Given the description of an element on the screen output the (x, y) to click on. 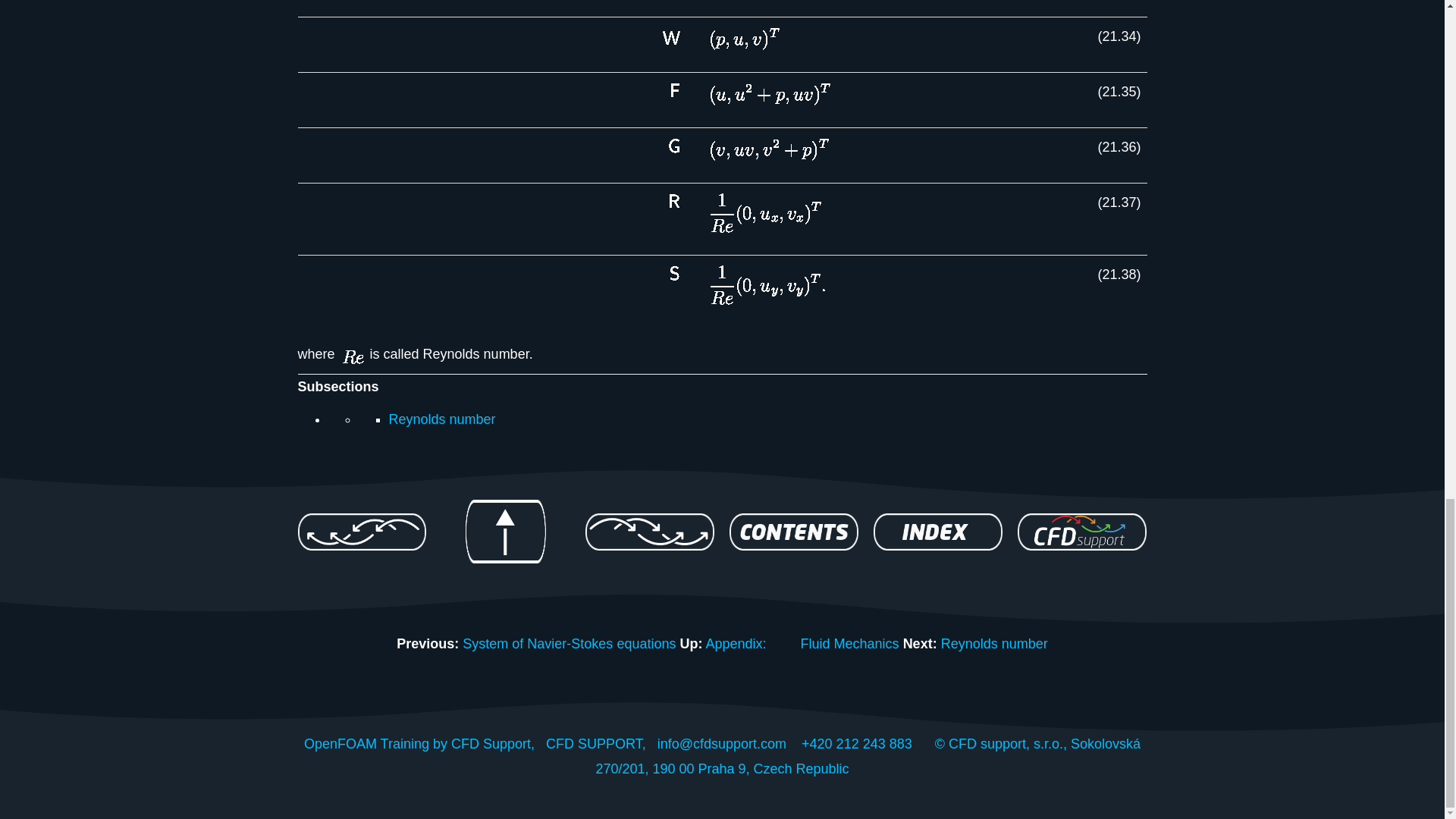
Reynolds number (994, 643)
Reynolds number (441, 418)
System of Navier-Stokes equations (569, 643)
Appendix:         Fluid Mechanics (801, 643)
